Given the description of an element on the screen output the (x, y) to click on. 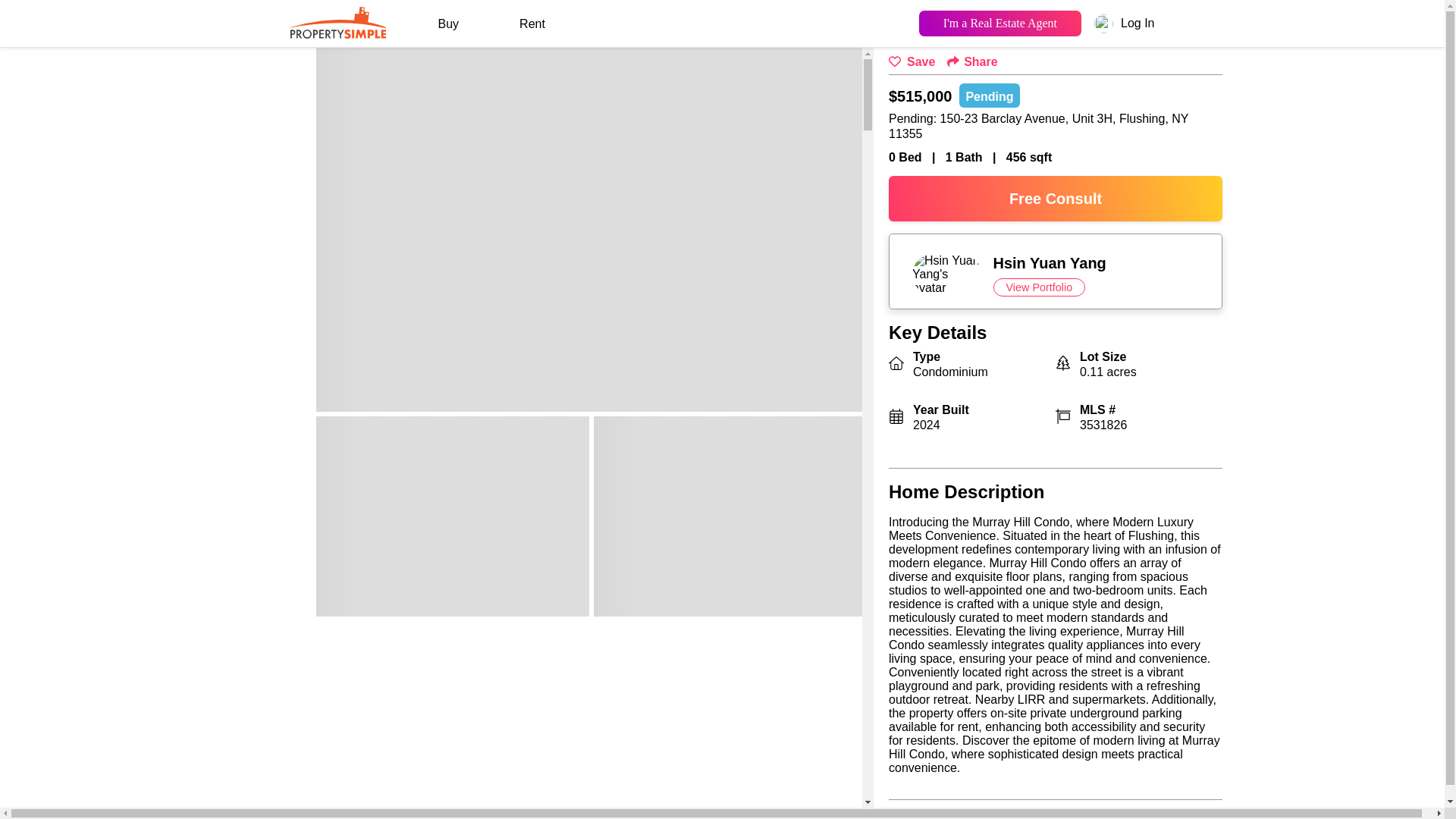
View Portfolio (1039, 287)
Buy (448, 24)
PropertySimple's Logo (337, 33)
I'm a Real Estate Agent (999, 22)
Free Consult (1055, 198)
Rent (532, 24)
PropertySimple's Logo (337, 21)
